Given the description of an element on the screen output the (x, y) to click on. 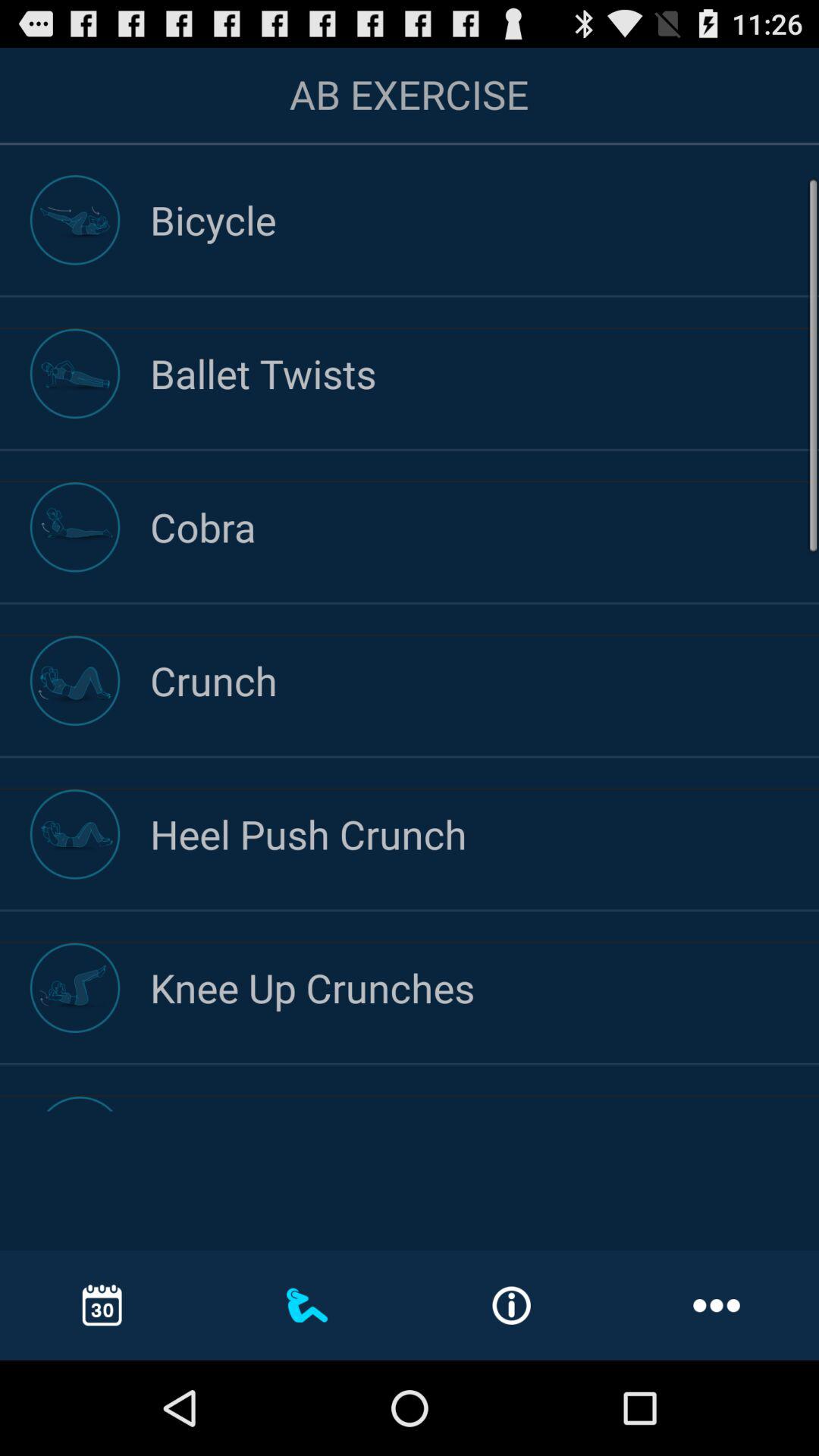
launch the cobra item (484, 526)
